Given the description of an element on the screen output the (x, y) to click on. 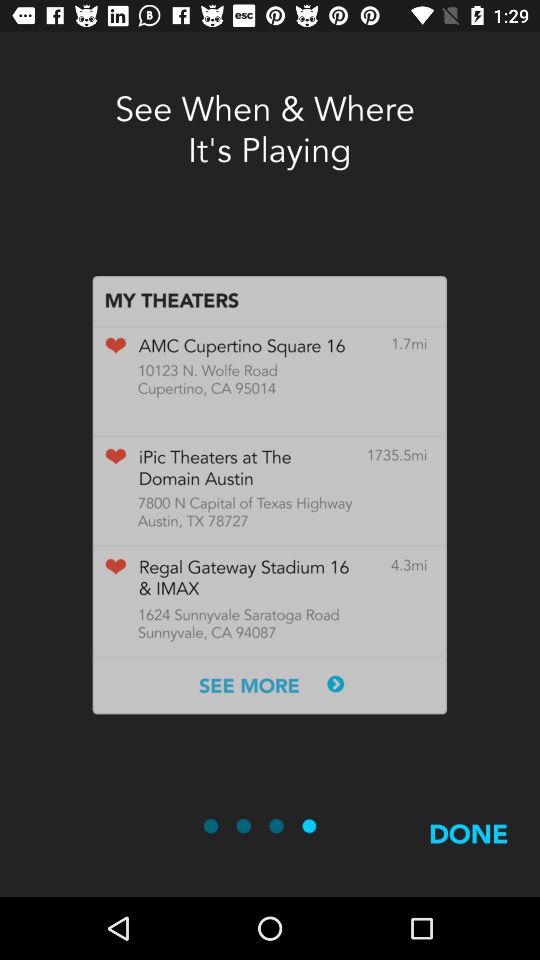
turn off icon at the center (269, 494)
